Given the description of an element on the screen output the (x, y) to click on. 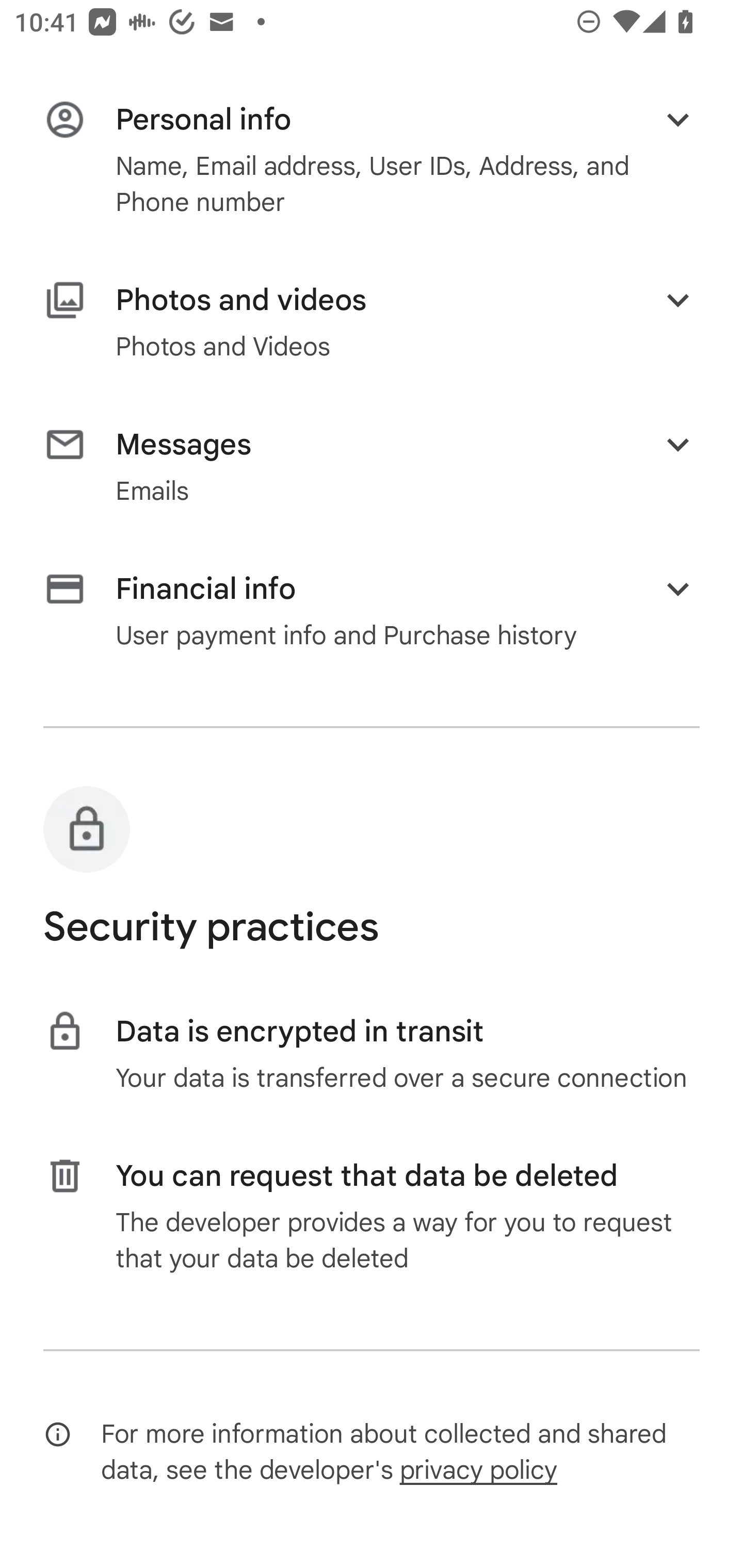
heading Messages Emails Expand button (371, 466)
